Given the description of an element on the screen output the (x, y) to click on. 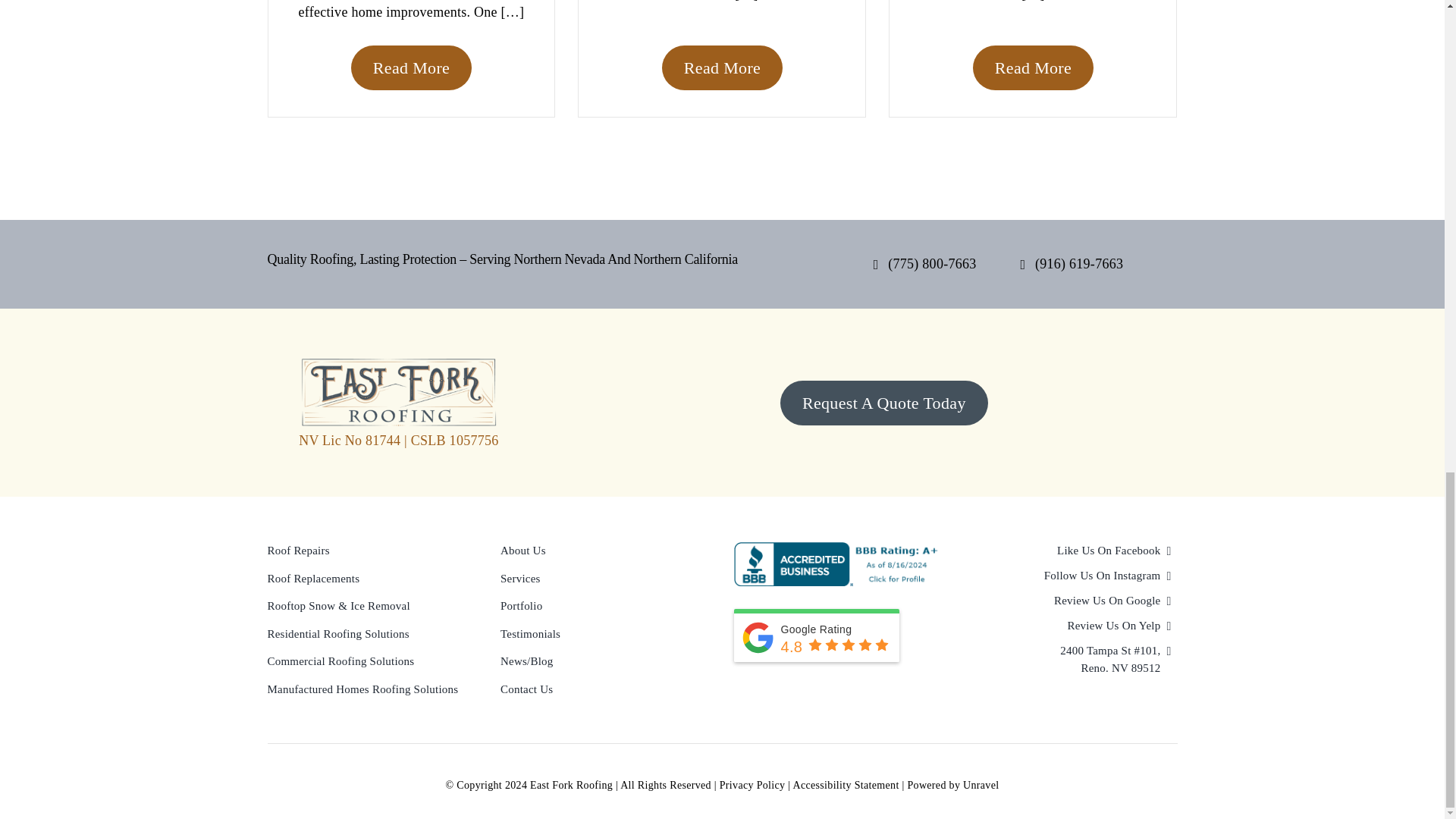
Nevada (924, 264)
Read More (410, 67)
California (1070, 264)
Read More (722, 67)
Read More (1032, 67)
